Given the description of an element on the screen output the (x, y) to click on. 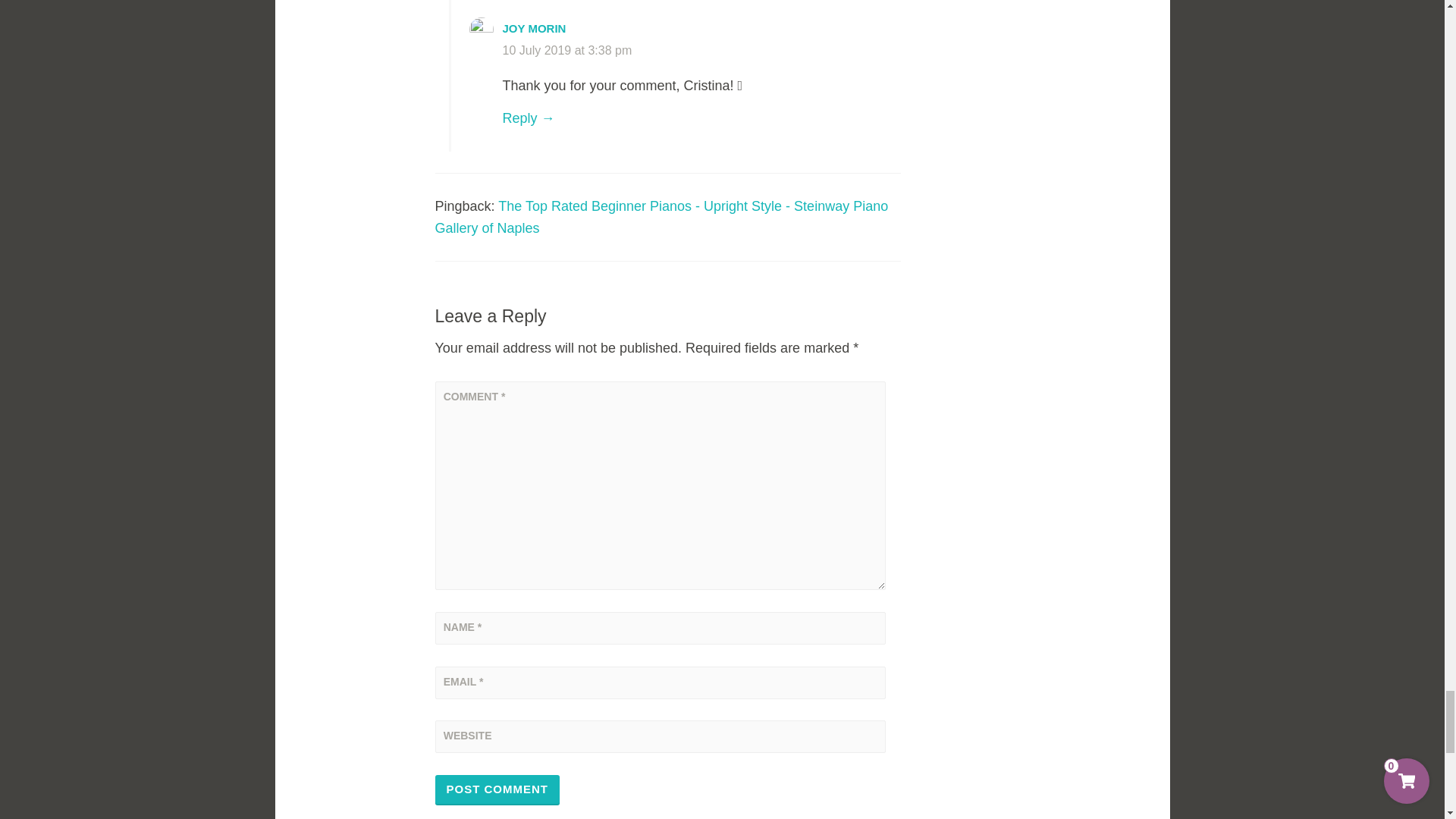
Post Comment (497, 789)
